Given the description of an element on the screen output the (x, y) to click on. 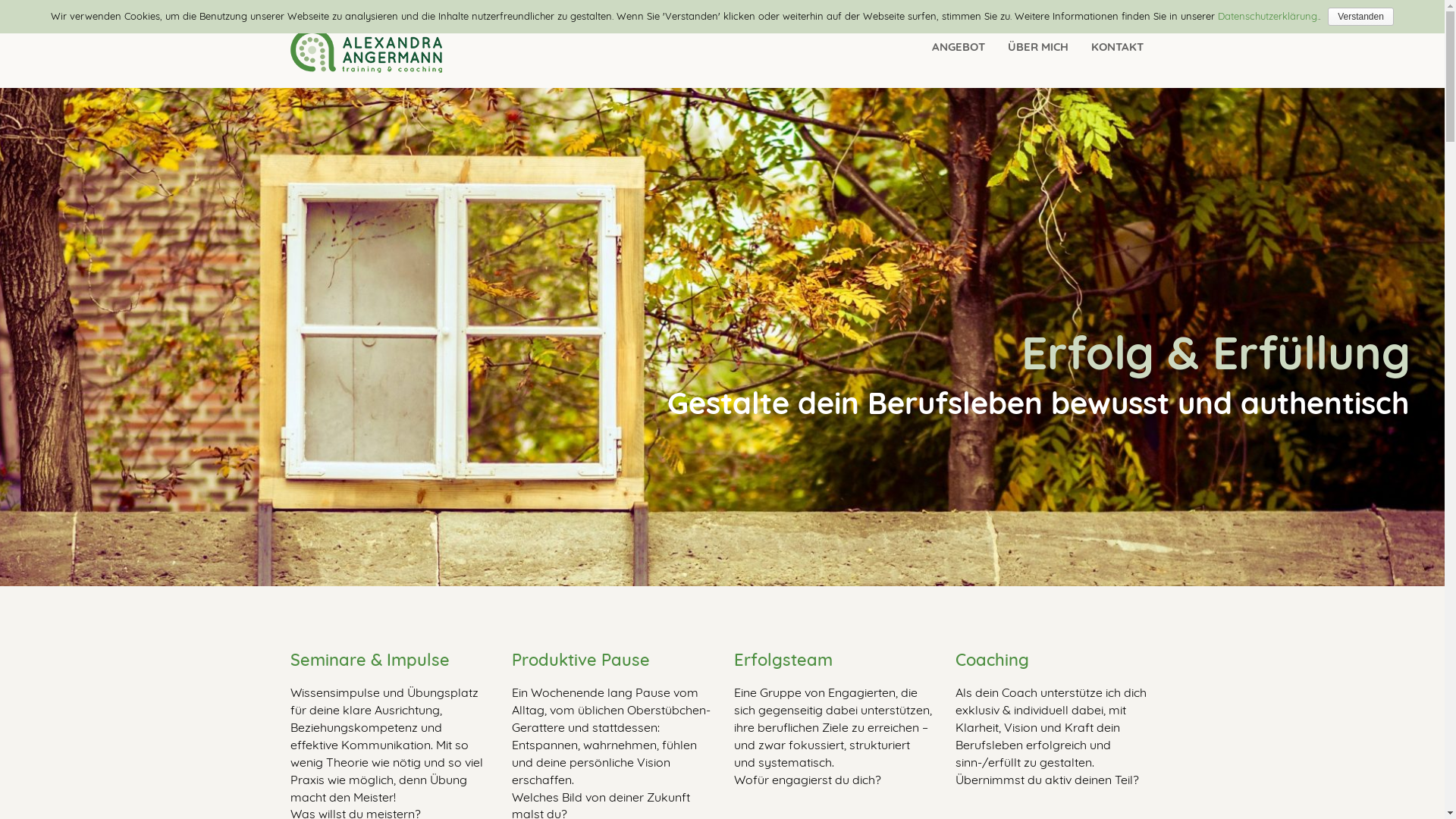
Produktive Pause Element type: text (580, 659)
Seminare & Impulse Element type: text (368, 659)
Erfolgsteam Element type: text (783, 659)
ANGEBOT Element type: text (957, 46)
Coaching Element type: text (992, 659)
Verstanden Element type: text (1360, 16)
KONTAKT Element type: text (1116, 46)
